Given the description of an element on the screen output the (x, y) to click on. 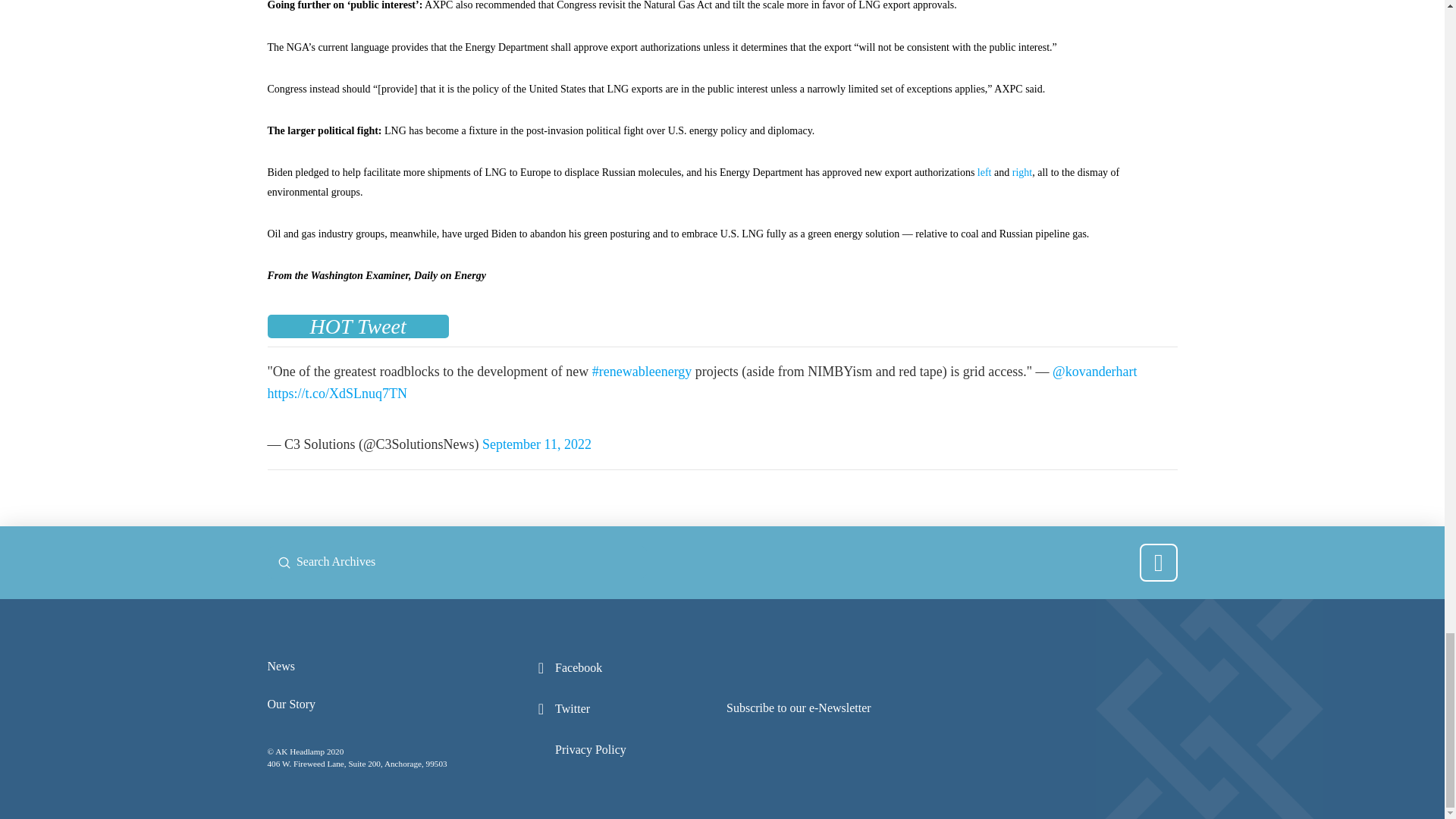
Submit (283, 562)
right (1021, 172)
September 11, 2022 (536, 444)
left (983, 172)
